Given the description of an element on the screen output the (x, y) to click on. 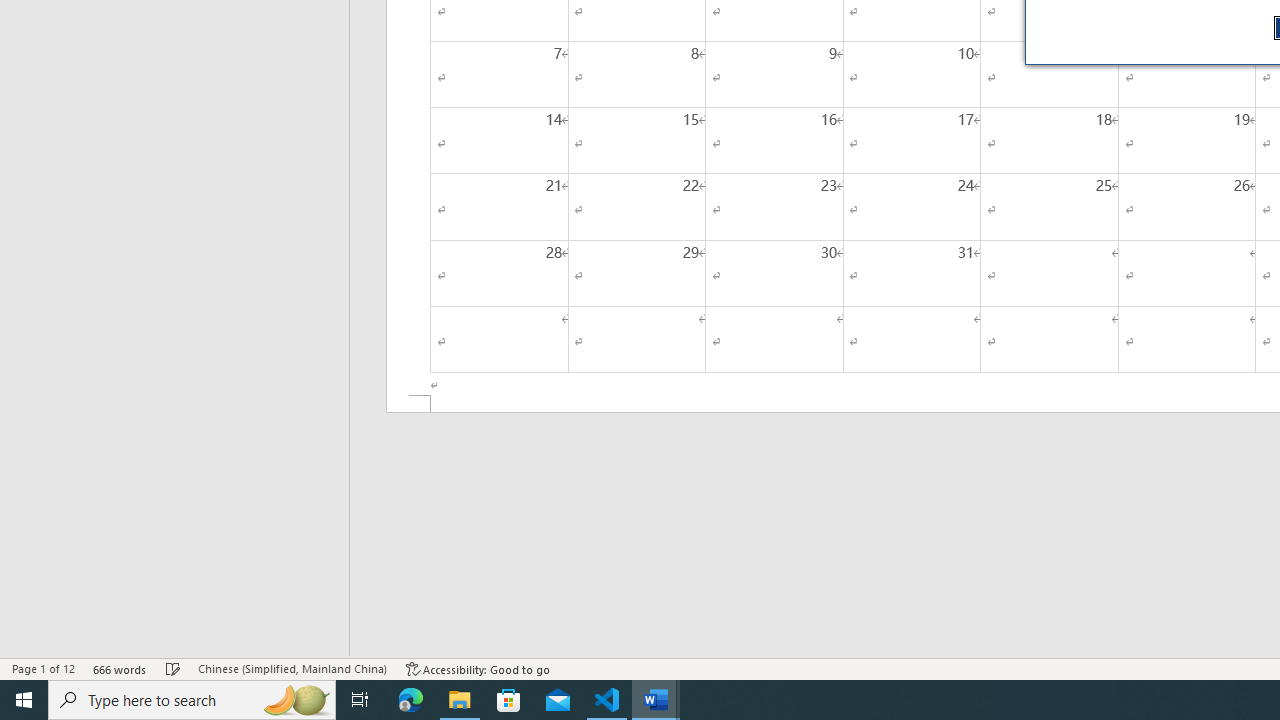
File Explorer - 1 running window (460, 699)
Page Number Page 1 of 12 (43, 668)
Word - 2 running windows (656, 699)
Microsoft Edge (411, 699)
